Given the description of an element on the screen output the (x, y) to click on. 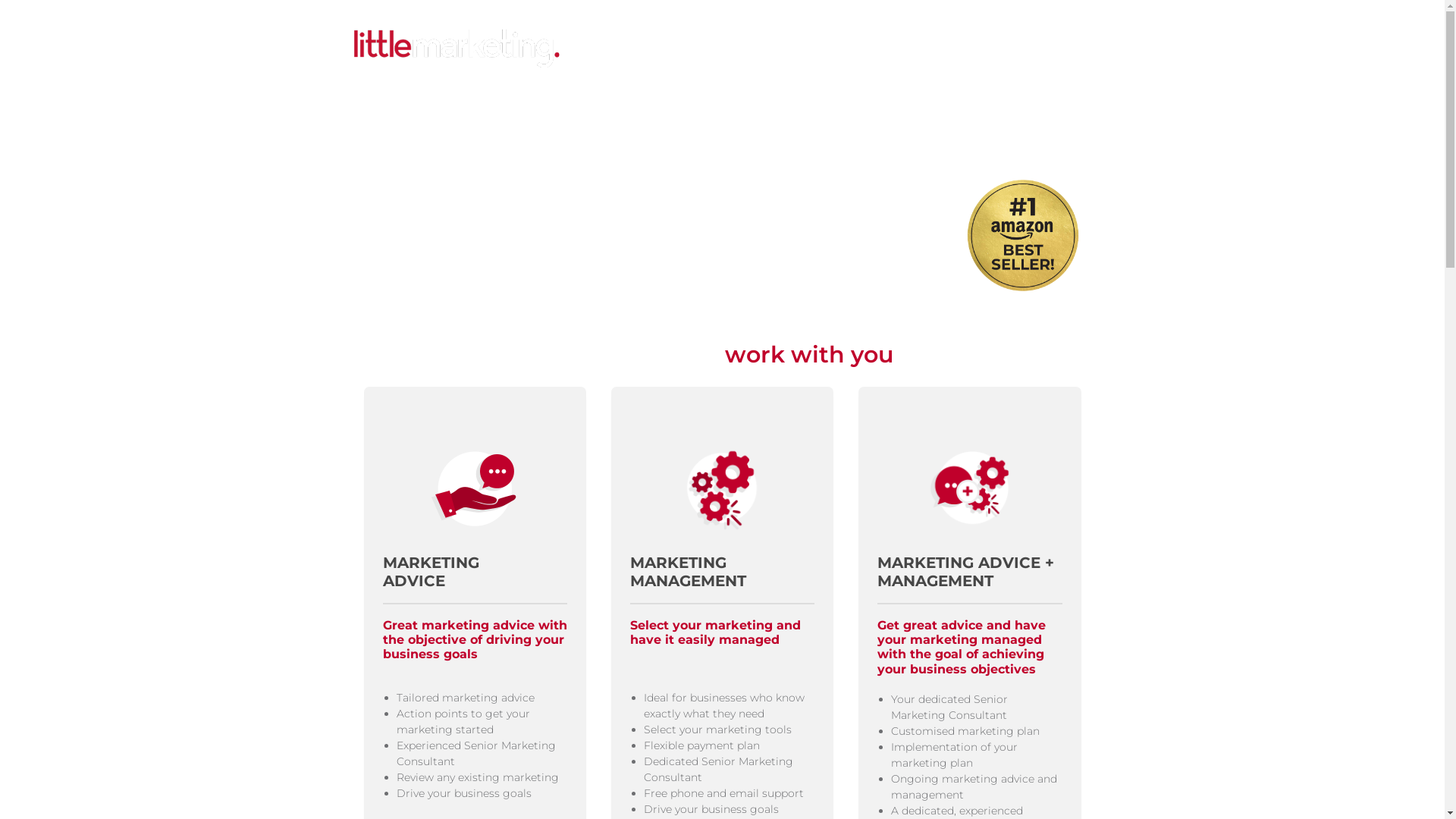
OUR BOOK Element type: text (790, 49)
SERVICES Element type: text (632, 49)
REVIEWS Element type: text (953, 49)
OUR PODCAST Element type: text (875, 49)
CONTACT Element type: text (1016, 49)
IN THE MEDIA Element type: text (708, 49)
